Given the description of an element on the screen output the (x, y) to click on. 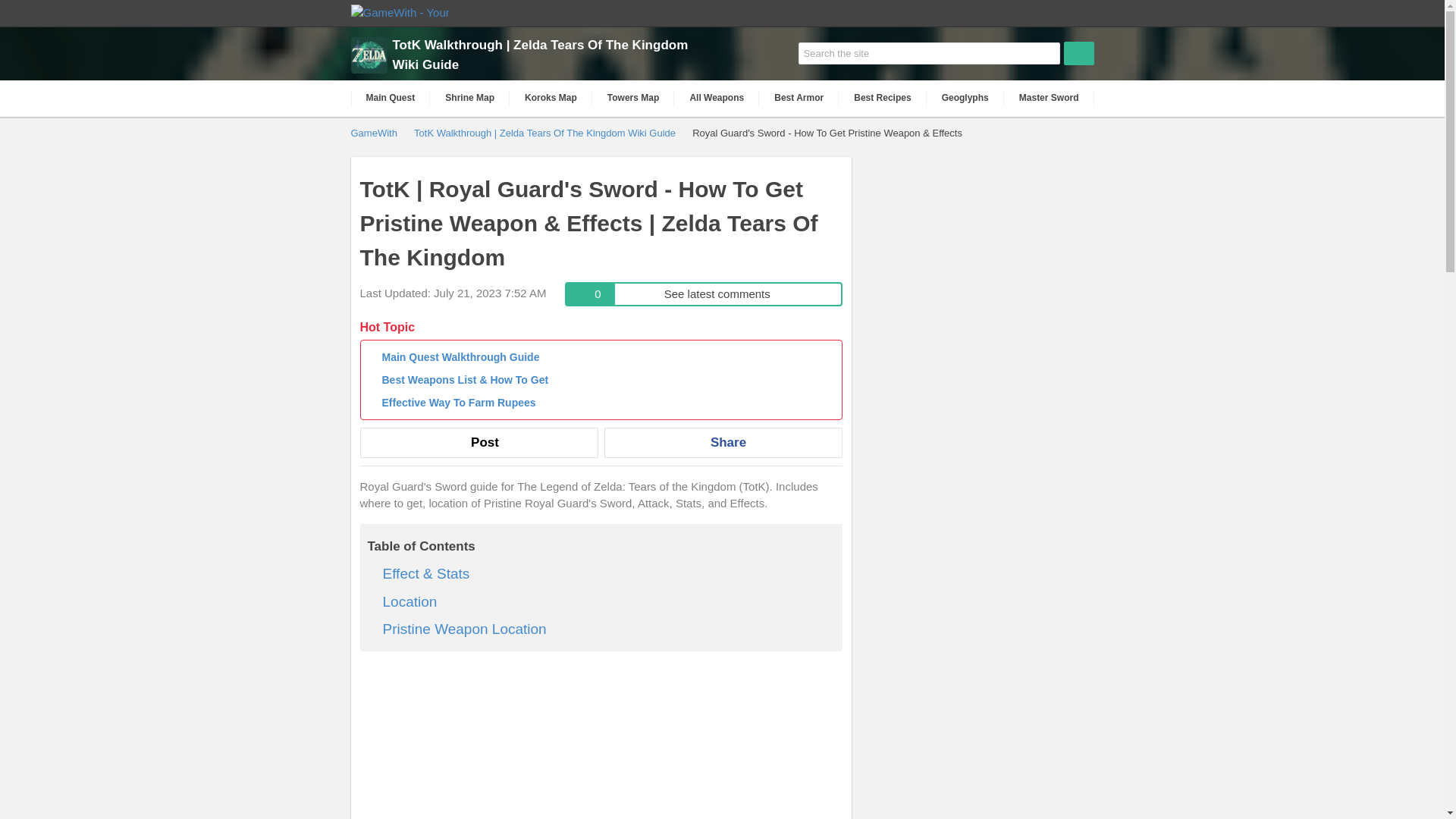
Share (722, 442)
All Weapons (703, 293)
Best Recipes (716, 98)
Towers Map (882, 98)
Shrine Map (633, 98)
Master Sword (469, 98)
Main Quest (1049, 98)
Location (389, 98)
GameWith (408, 601)
